Given the description of an element on the screen output the (x, y) to click on. 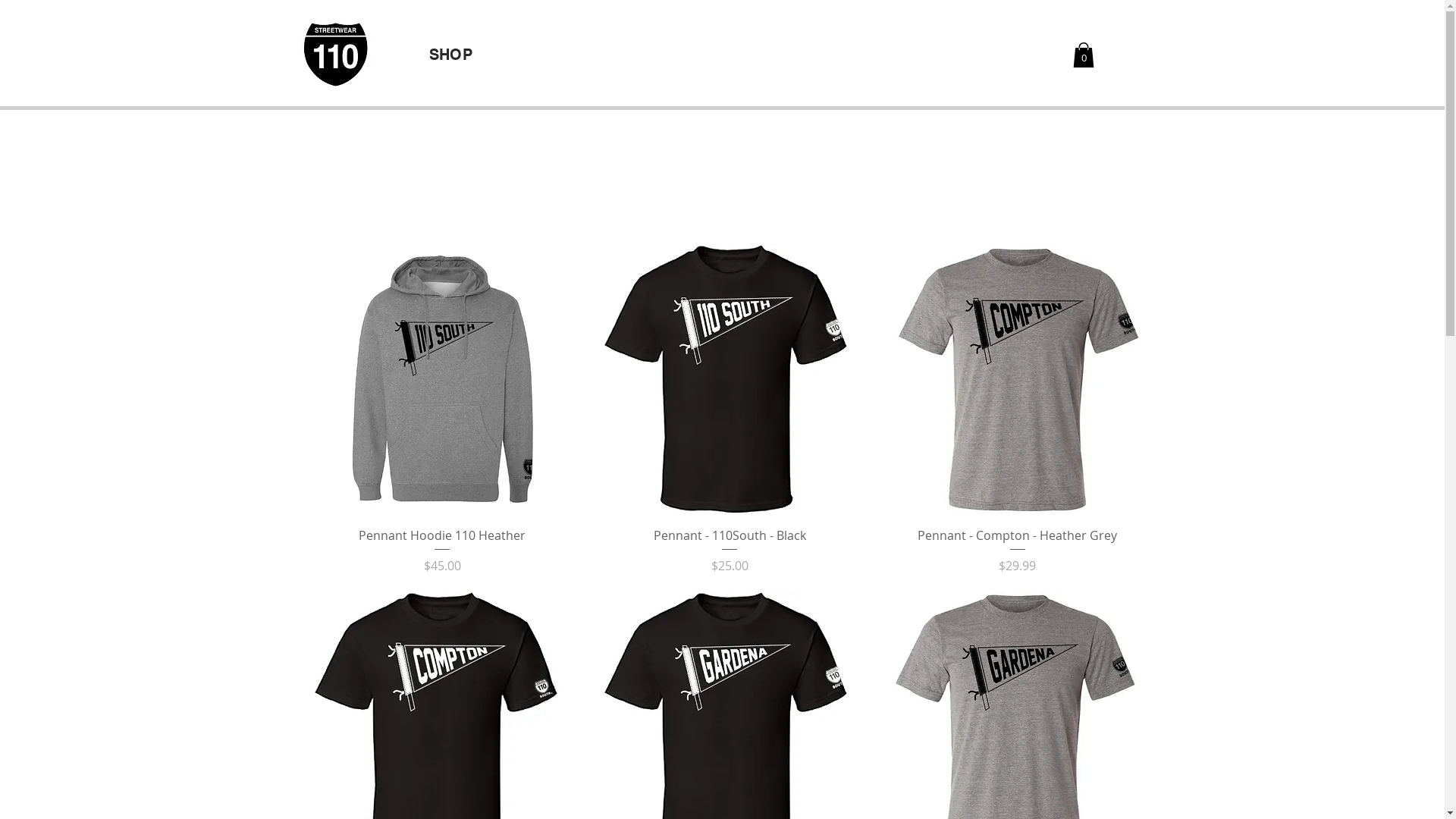
Pennant Hoodie 110 Heather
Price
$45.00 Element type: text (442, 550)
Pennant - Compton - Heather Grey
Price
$29.99 Element type: text (1017, 550)
0 Element type: text (1082, 54)
Pennant - 110South - Black
Price
$25.00 Element type: text (729, 550)
SHOP Element type: text (450, 53)
